Given the description of an element on the screen output the (x, y) to click on. 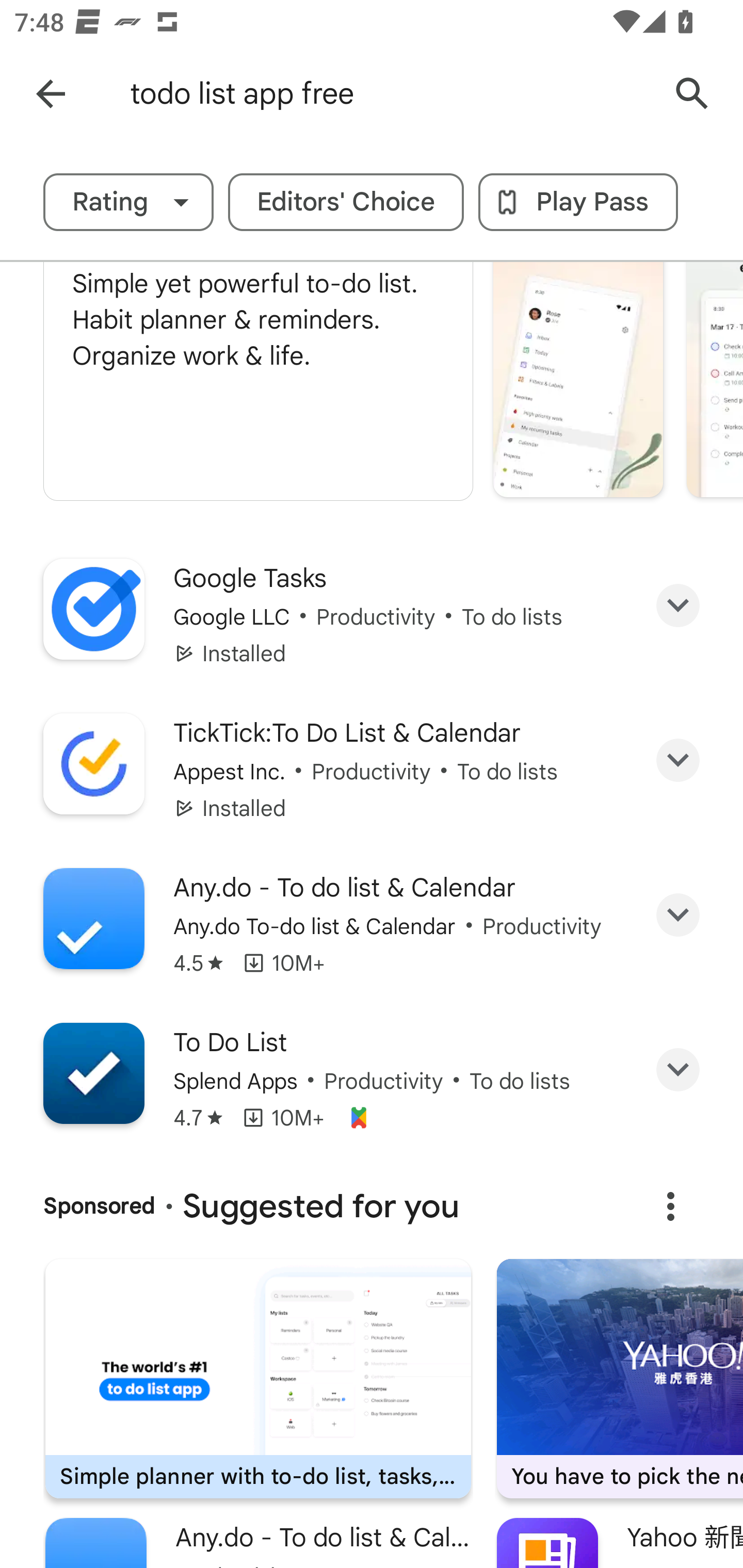
todo list app free (389, 93)
Navigate up (50, 93)
Search Google Play (692, 93)
Rating - double tap to change the filter (128, 202)
Editors' Choice - double tap to toggle the filter (345, 202)
Play Pass - double tap to toggle the filter (577, 202)
Screenshot "1" of "8" (577, 379)
Expand content for Google Tasks (677, 605)
Expand content for TickTick:To Do List & Calendar (677, 759)
Expand content for Any.do - To do list & Calendar (677, 914)
Expand content for To Do List (677, 1070)
About this ad (670, 1206)
